Given the description of an element on the screen output the (x, y) to click on. 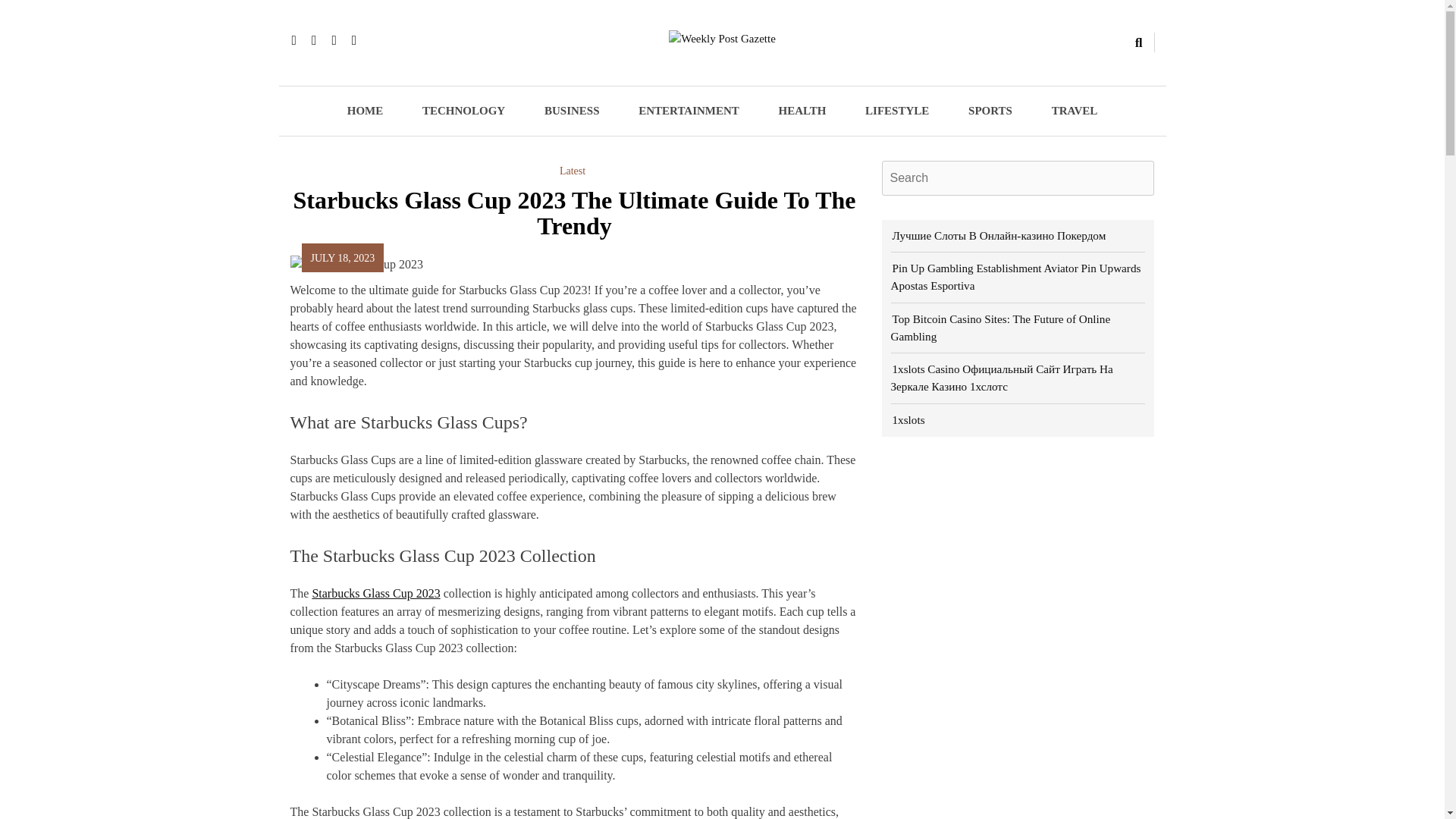
TECHNOLOGY (463, 110)
BUSINESS (571, 110)
Weekly Post Gazette (549, 73)
HOME (365, 110)
Starbucks Glass Cup 2023 (375, 593)
HEALTH (802, 110)
1xslots (906, 419)
ENTERTAINMENT (688, 110)
Top Bitcoin Casino Sites: The Future of Online Gambling (999, 327)
